Given the description of an element on the screen output the (x, y) to click on. 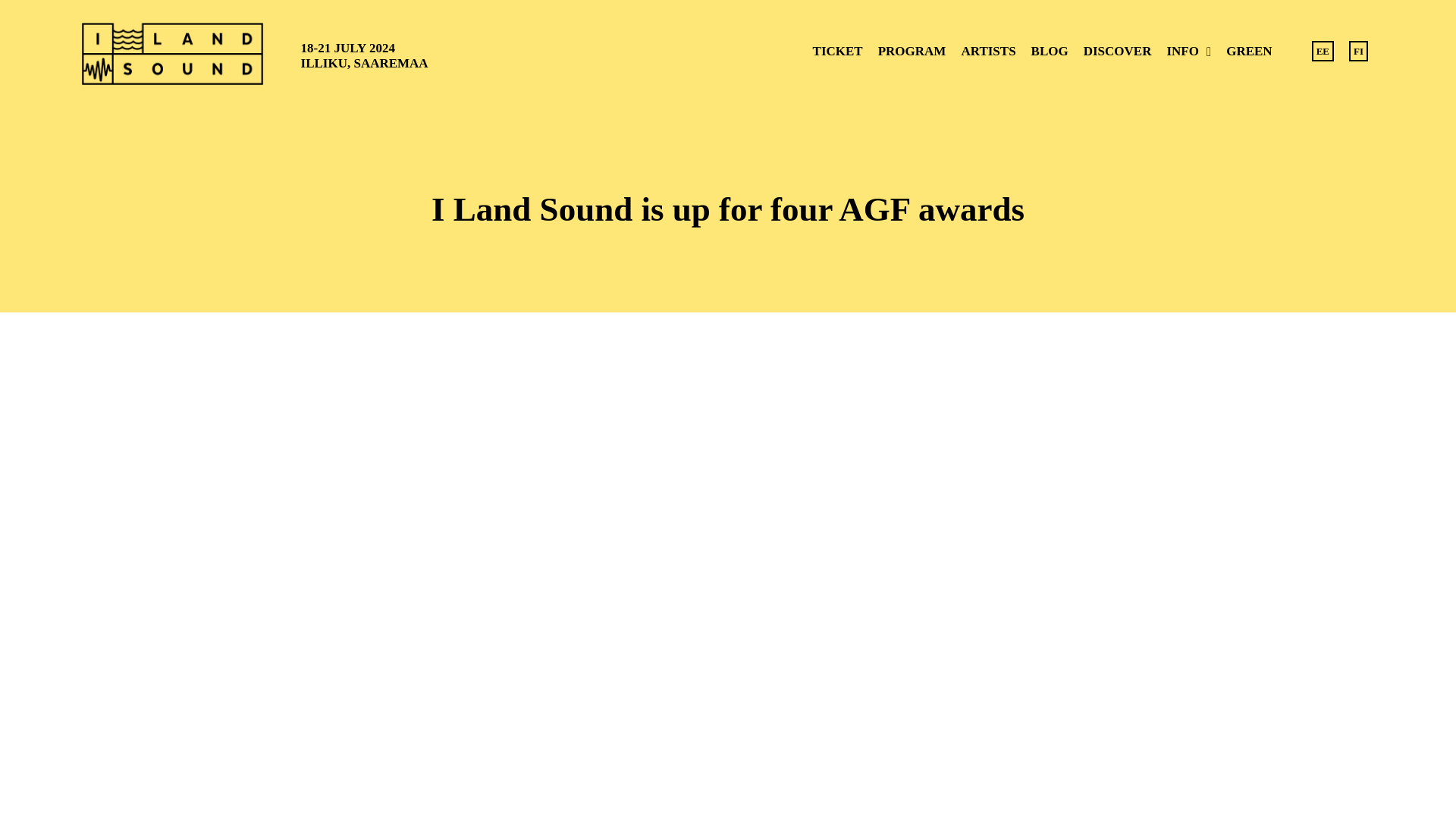
GREEN (1248, 53)
PROGRAM (911, 53)
TICKET (837, 53)
EE (1322, 53)
INFO (1188, 53)
FI (1357, 53)
ARTISTS (988, 53)
FI (1357, 53)
DISCOVER (1116, 53)
EE (1322, 53)
BLOG (1049, 53)
